Given the description of an element on the screen output the (x, y) to click on. 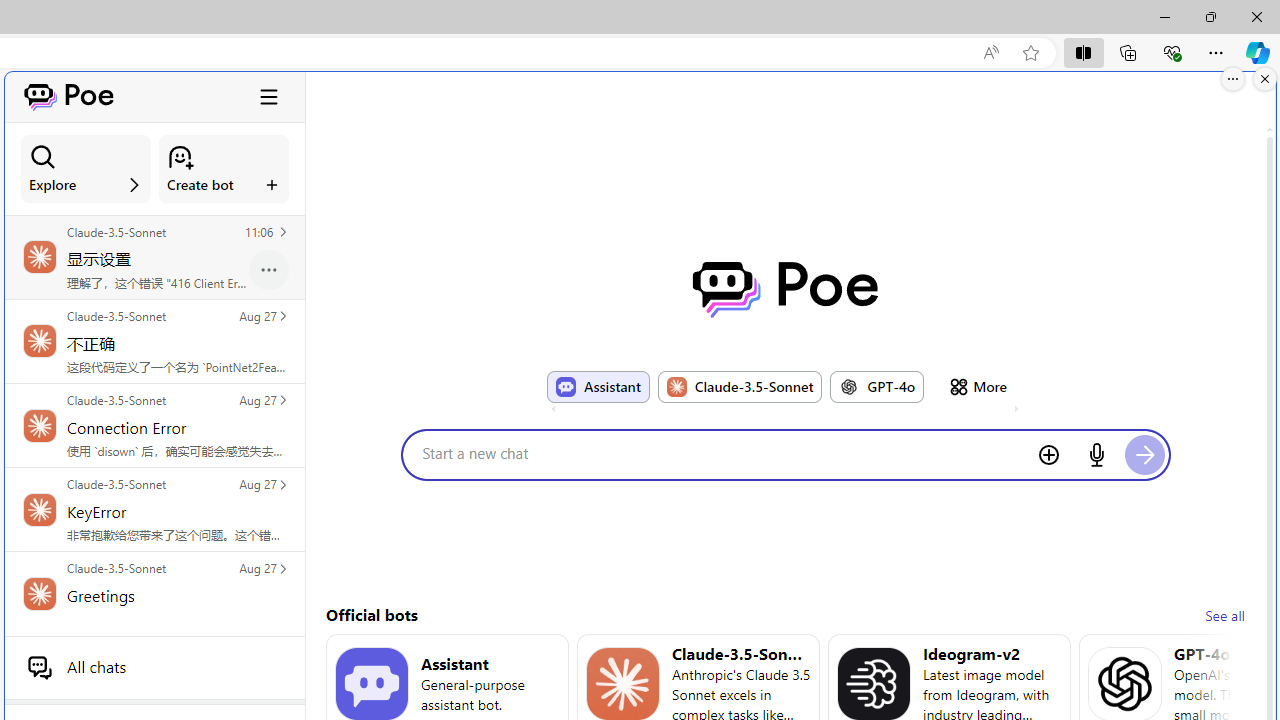
Class: ManageBotsCardSection_createBotIcon__9JUYg (180, 157)
More options. (1233, 79)
Bot image for Claude-3.5-Sonnet Claude-3.5-Sonnet (739, 386)
Poe (785, 289)
Create bot (223, 169)
Class: ChatHistoryListItem_chevronIcon__zJZSN (282, 568)
Poe (785, 289)
Bot image for Claude-3.5-Sonnet (623, 683)
Bot image for GPT-4o (849, 385)
Bot image for GPT-4o GPT-4o (877, 386)
